Given the description of an element on the screen output the (x, y) to click on. 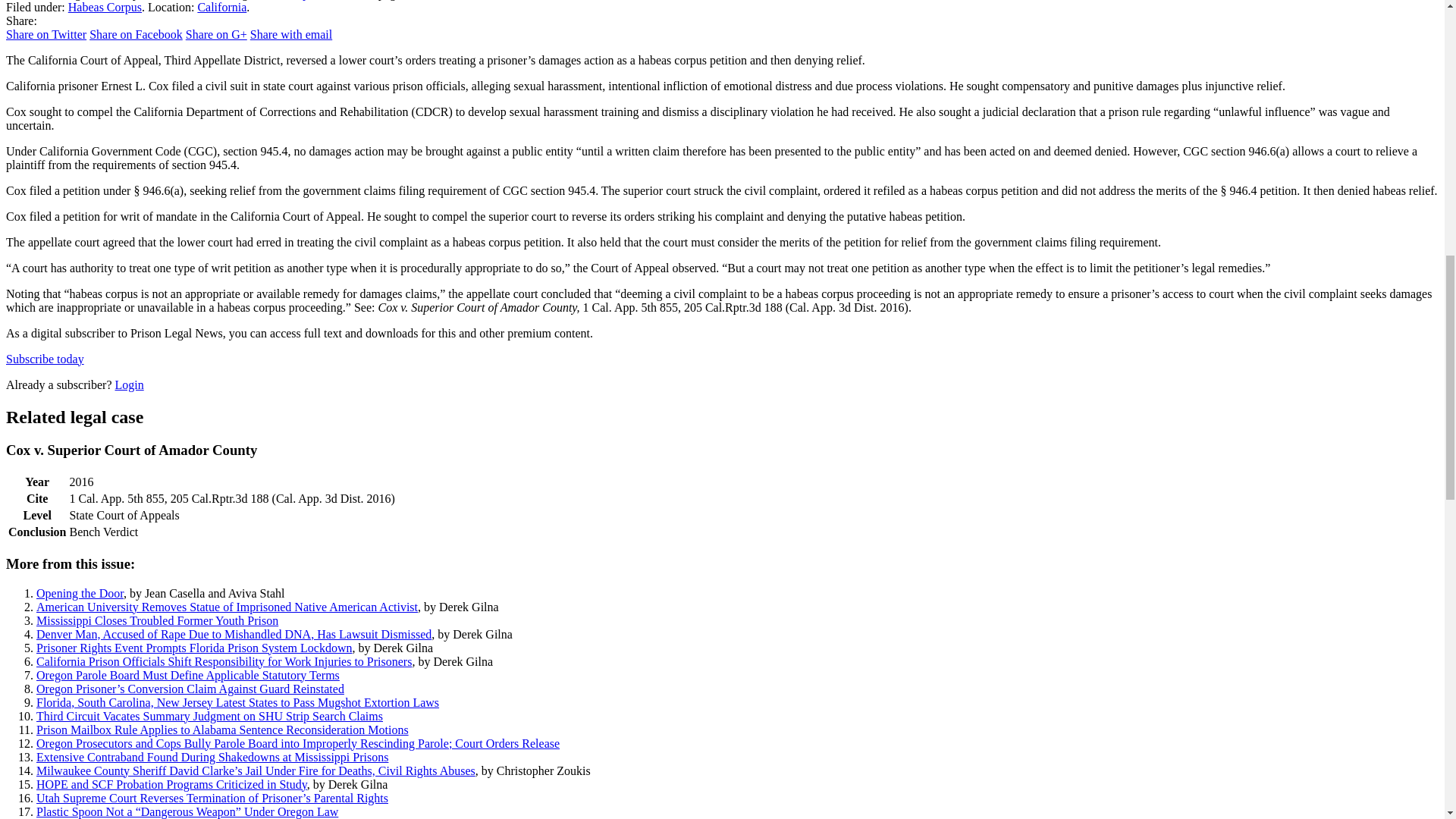
Share with email (290, 33)
Share on Facebook (135, 33)
Habeas Corpus (104, 6)
Share on Twitter (45, 33)
